Given the description of an element on the screen output the (x, y) to click on. 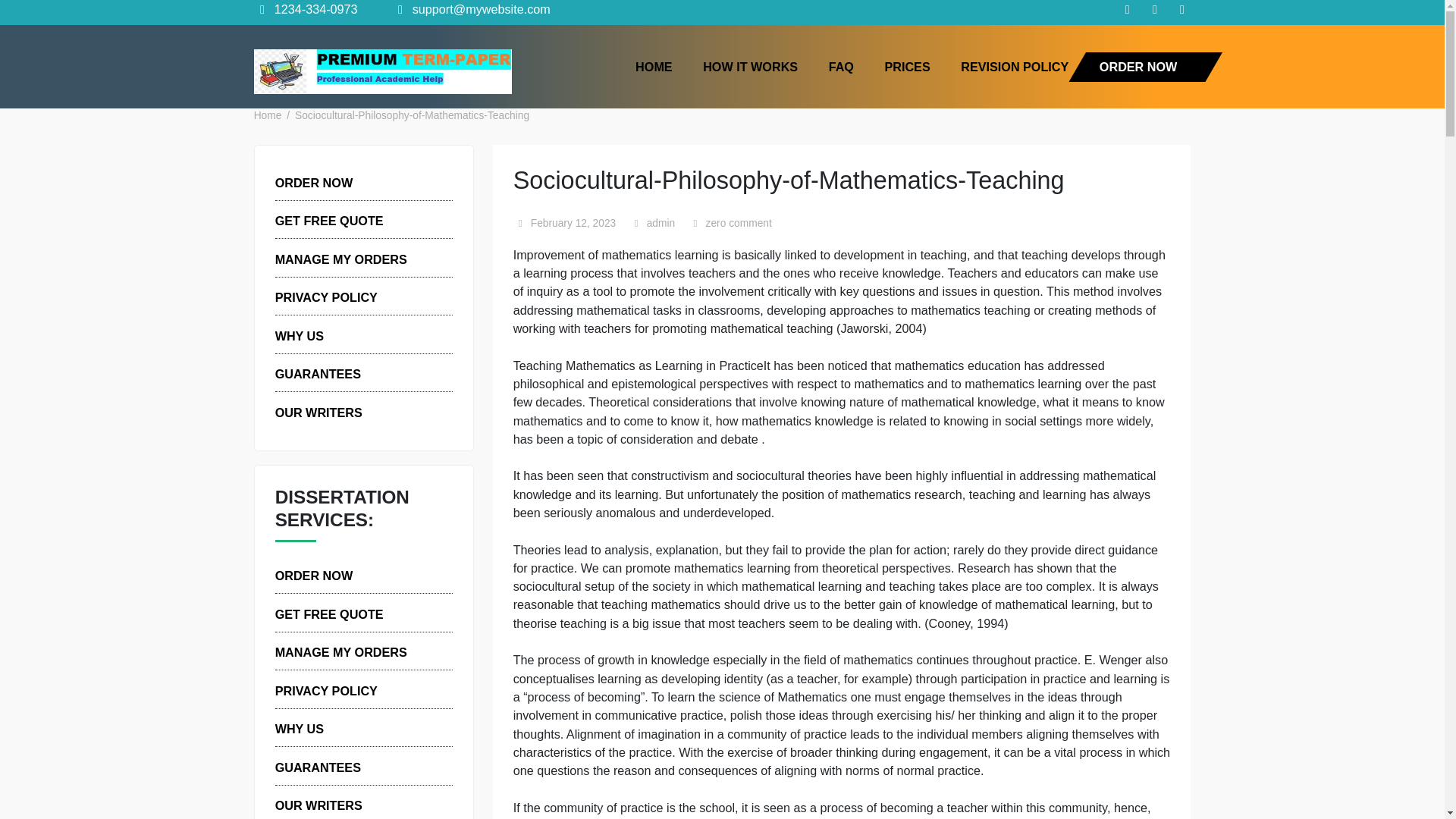
Home (297, 129)
PRIVACY POLICY (362, 768)
WHY US (332, 372)
February 12, 2023 (636, 248)
OUR WRITERS (354, 458)
ORDER NOW (348, 202)
GET FREE QUOTE (365, 682)
1234-334-0973 (339, 10)
PRIVACY POLICY (362, 330)
GUARANTEES (353, 415)
